Given the description of an element on the screen output the (x, y) to click on. 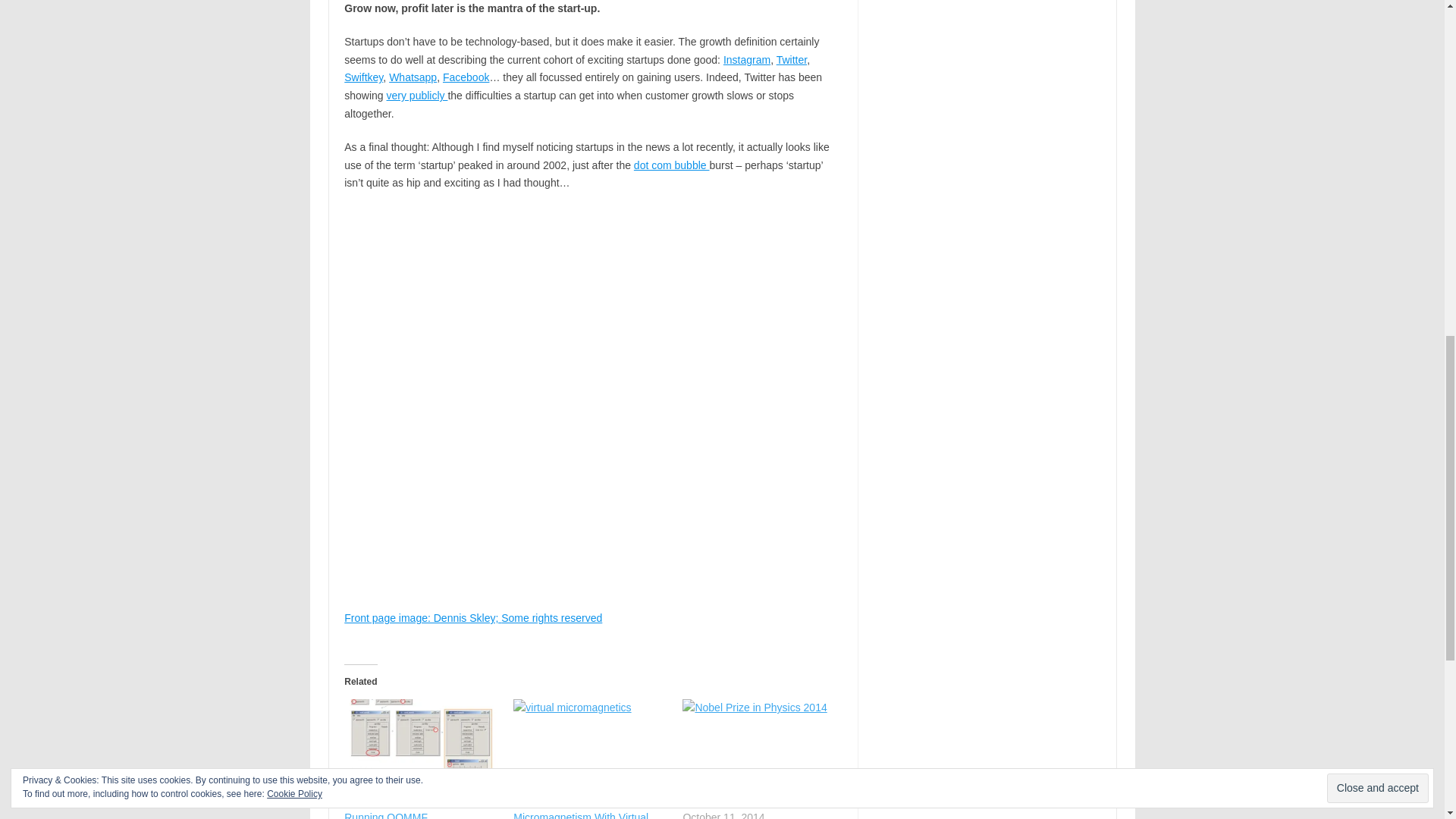
Go to Dennis Skley's photostream (421, 617)
OOMMF Tutorial Part 2: Running OOMMF (400, 807)
OOMMF Tutorial Part 2: Running OOMMF (420, 743)
Front page image: Dennis Skley; (421, 617)
Swiftkey (362, 77)
Some rights reserved (551, 617)
Facebook (465, 77)
Nobel Prize in Physics 2014 (747, 802)
OOMMF Tutorial Part 2: Running OOMMF (400, 807)
Nobel Prize in Physics 2014 (758, 743)
dot com bubble (671, 164)
Nobel Prize in Physics 2014 (747, 802)
very publicly (417, 95)
Instagram (746, 60)
Twitter (791, 60)
